Given the description of an element on the screen output the (x, y) to click on. 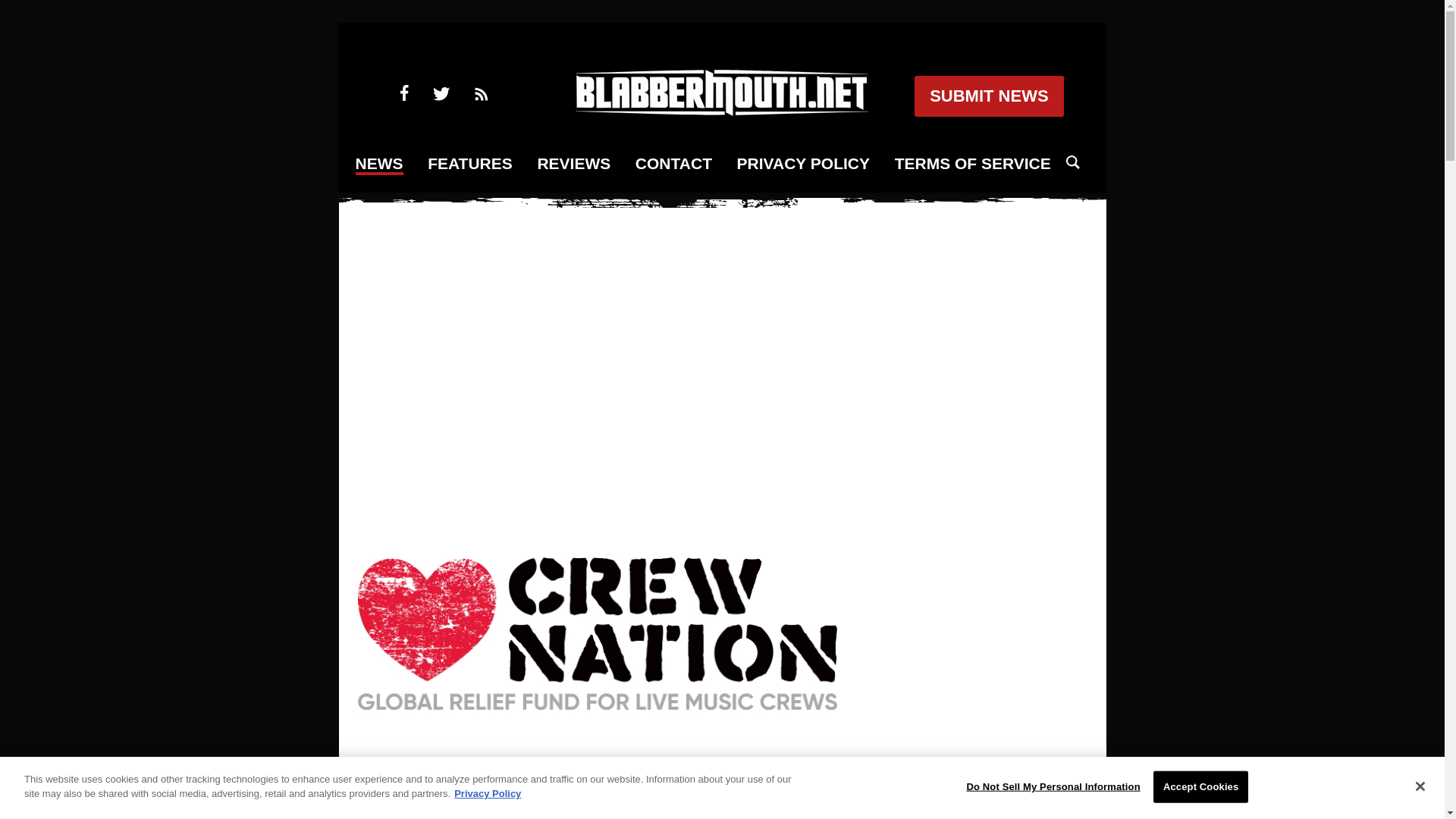
CONTACT (672, 163)
REVIEWS (573, 163)
blabbermouth (721, 110)
NEWS (379, 164)
PRIVACY POLICY (802, 163)
TERMS OF SERVICE (973, 163)
search icon (1072, 161)
SUBMIT NEWS (988, 96)
FEATURES (470, 163)
